Given the description of an element on the screen output the (x, y) to click on. 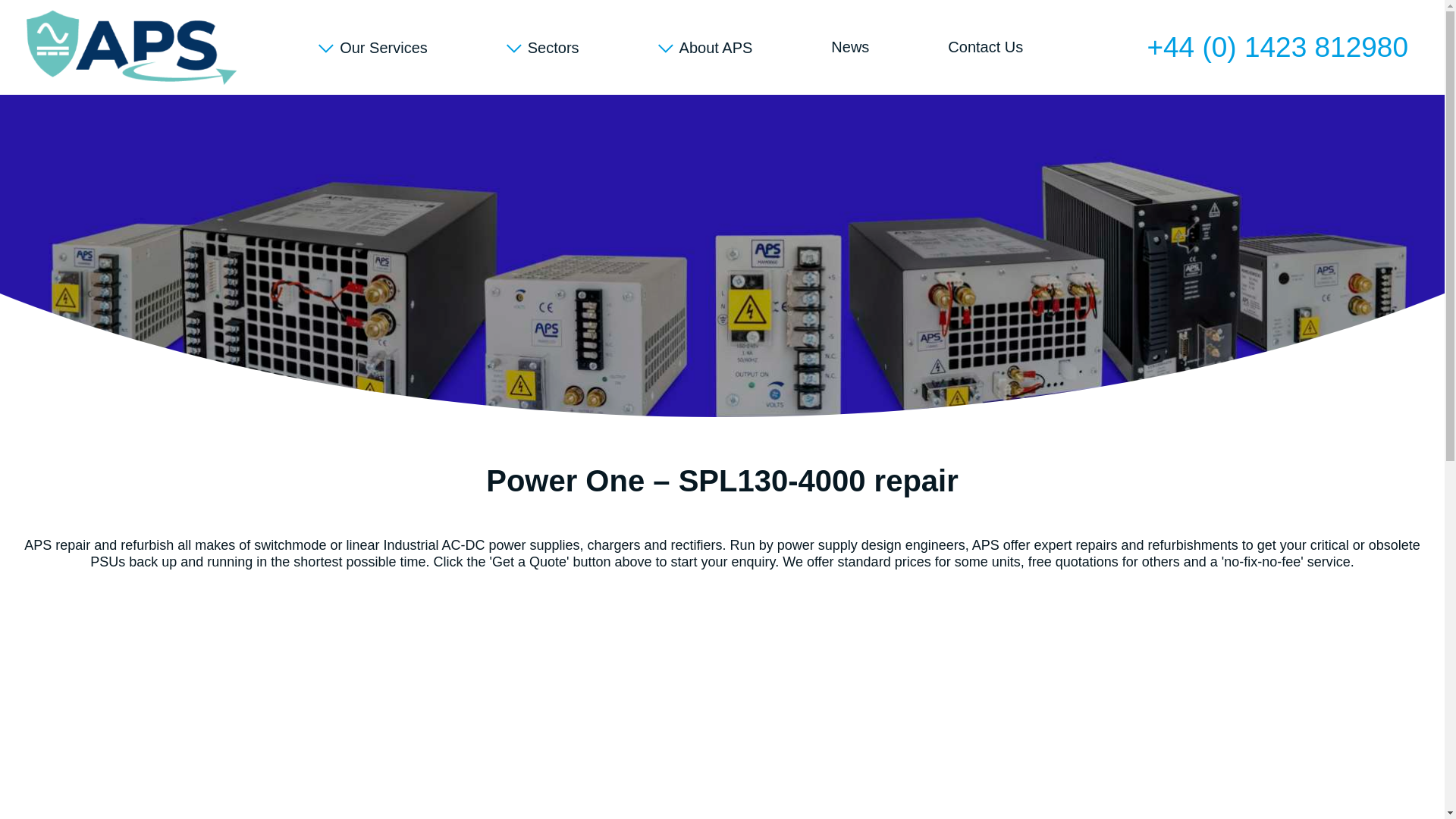
News (850, 47)
Contact Us (985, 47)
About APS (705, 47)
Our Services (373, 47)
Sectors (542, 47)
Home (130, 47)
